Given the description of an element on the screen output the (x, y) to click on. 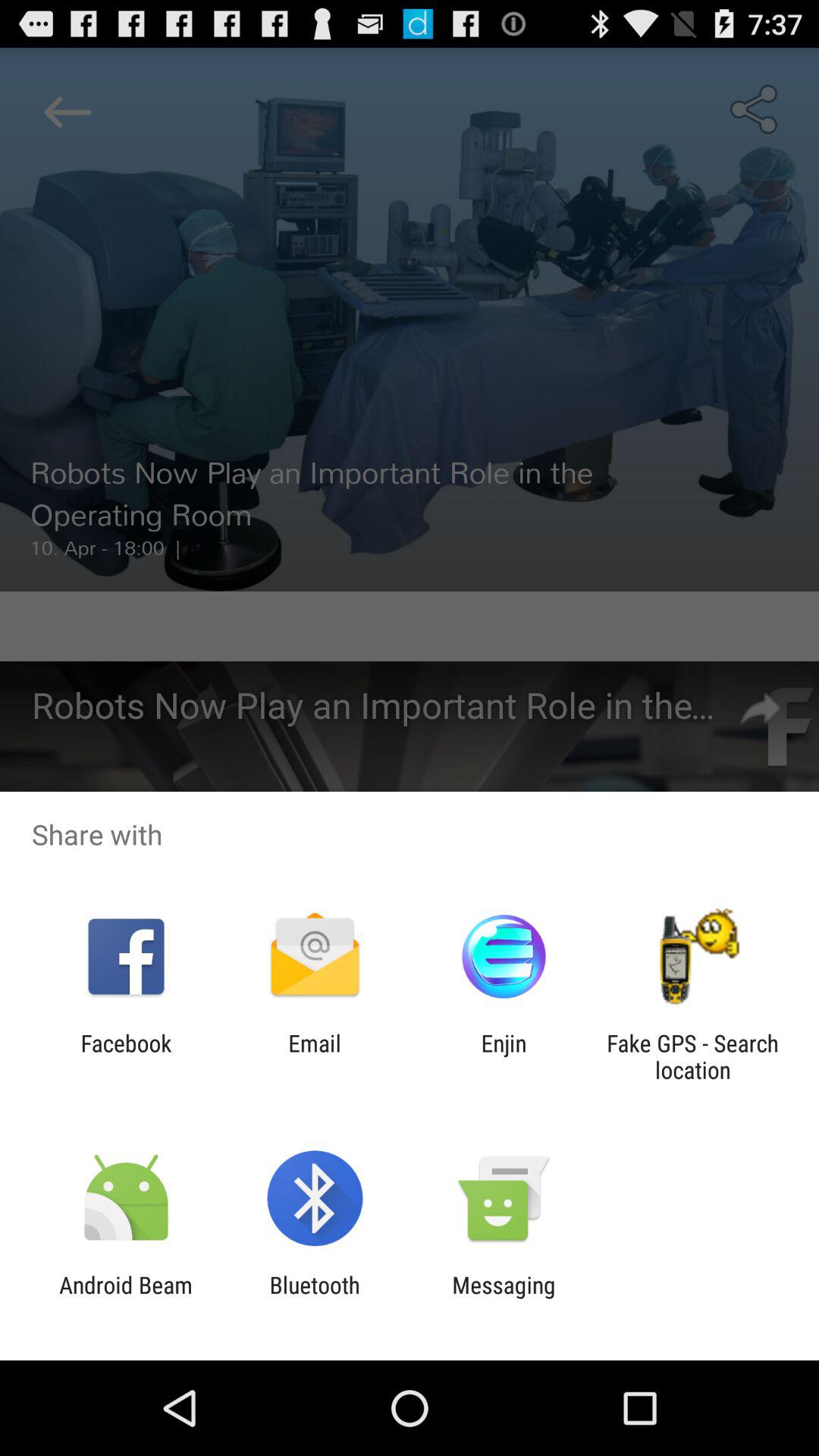
select the item to the left of the email item (125, 1056)
